Given the description of an element on the screen output the (x, y) to click on. 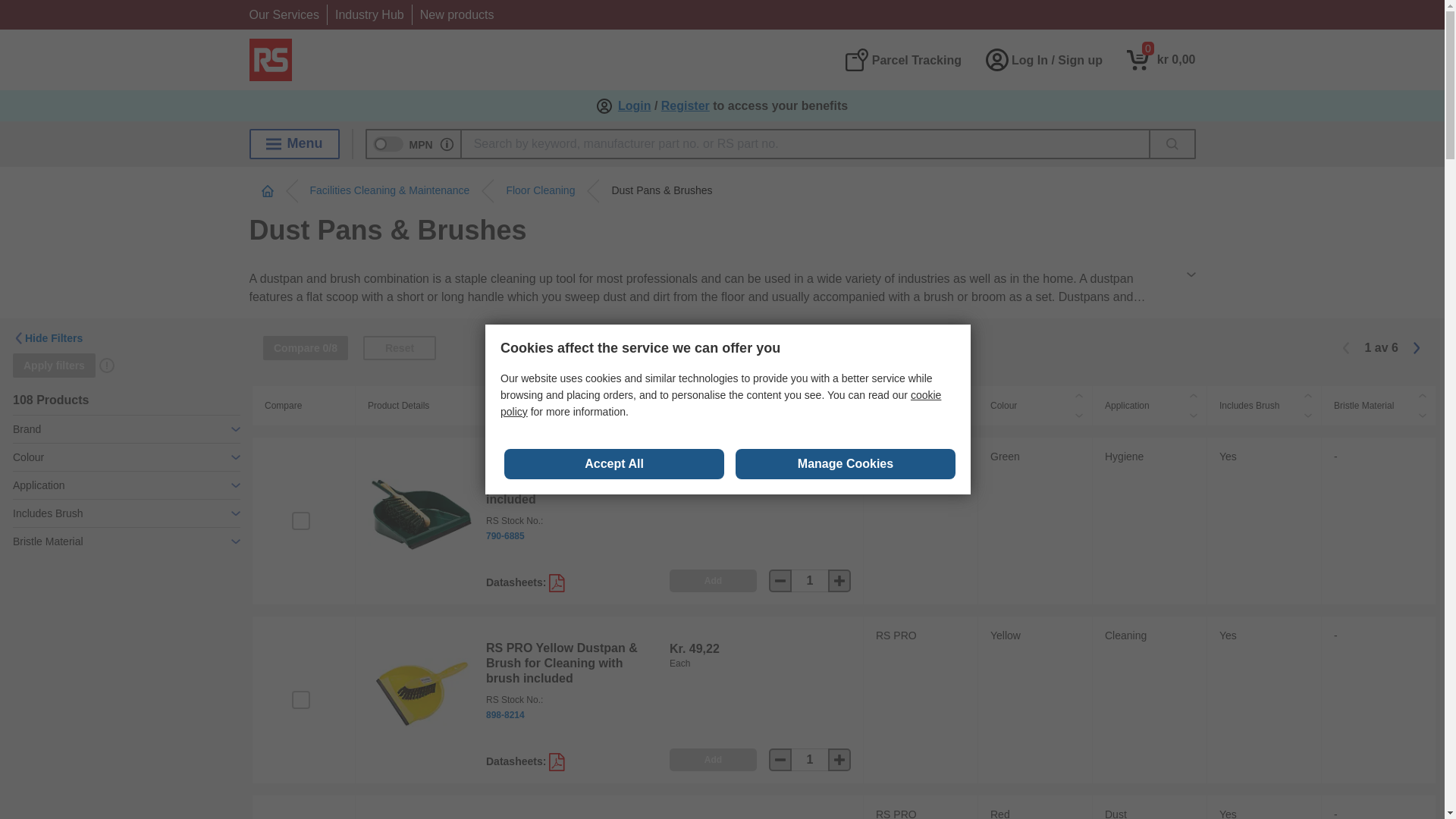
on (299, 520)
1 (810, 759)
1 (810, 580)
Sort descending (850, 415)
Sort descending (1078, 415)
New products (457, 14)
Parcel Tracking (902, 59)
Sort ascending (1160, 59)
Sort ascending (1193, 395)
Login (850, 395)
Register (633, 105)
Sort ascending (685, 105)
Menu (1307, 395)
Sort descending (293, 143)
